Given the description of an element on the screen output the (x, y) to click on. 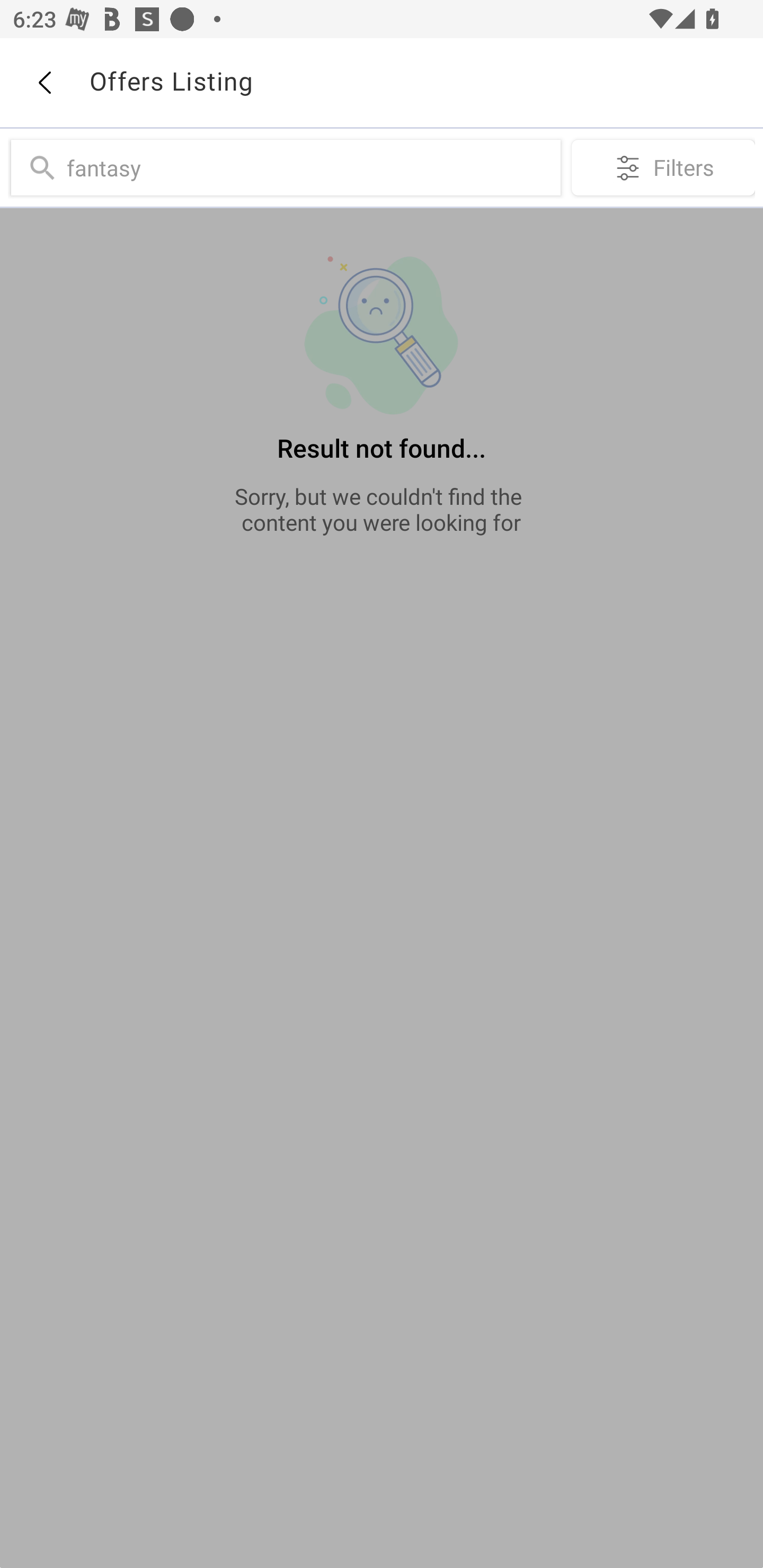
Back (44, 82)
Filter Filters (663, 167)
fantasy (309, 167)
